Given the description of an element on the screen output the (x, y) to click on. 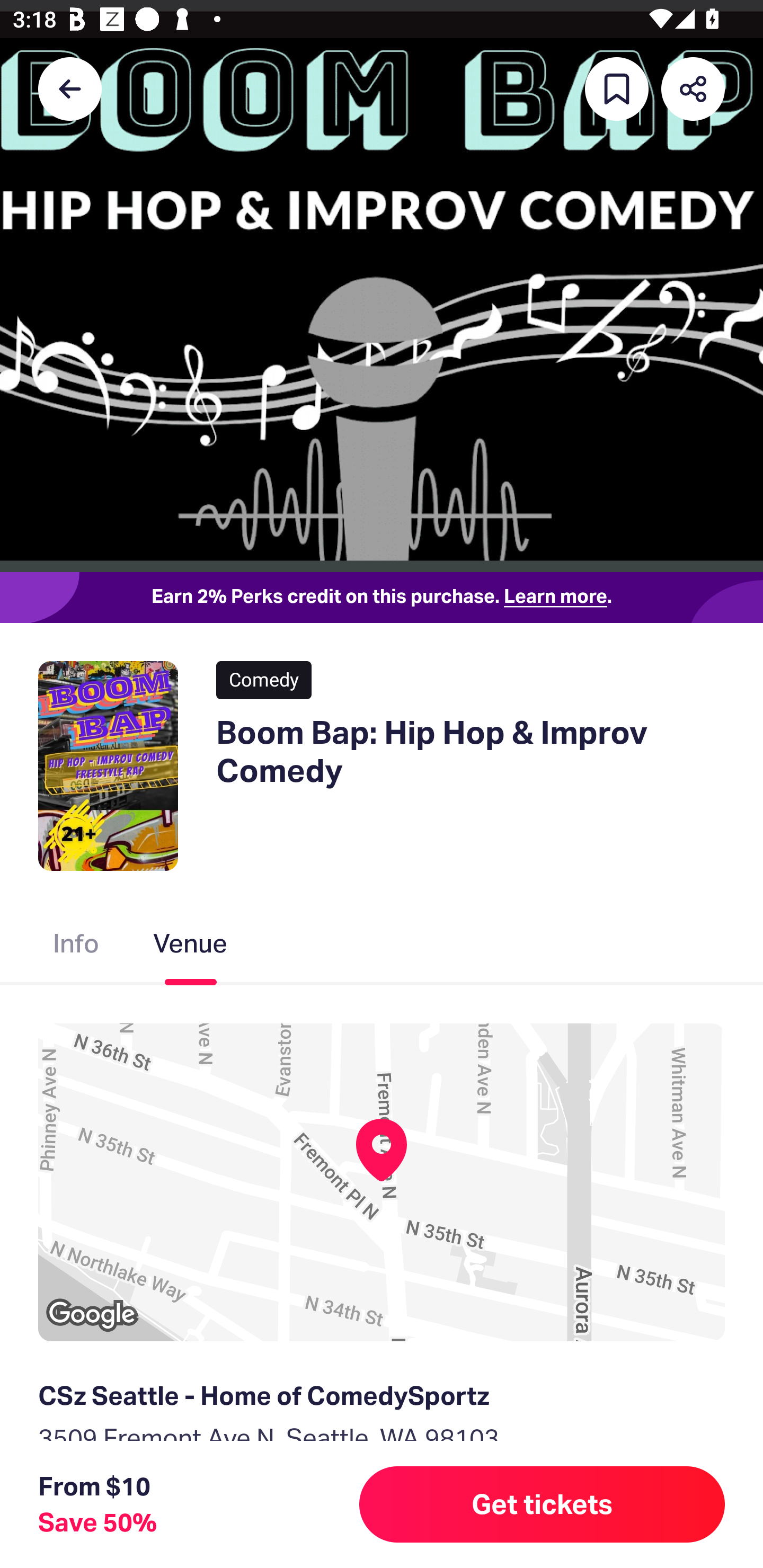
Earn 2% Perks credit on this purchase. Learn more. (381, 597)
Info (76, 946)
Google Map CSz Seattle - Home of ComedySportz.  (381, 1181)
Get tickets (541, 1504)
Get directions (381, 1530)
